Given the description of an element on the screen output the (x, y) to click on. 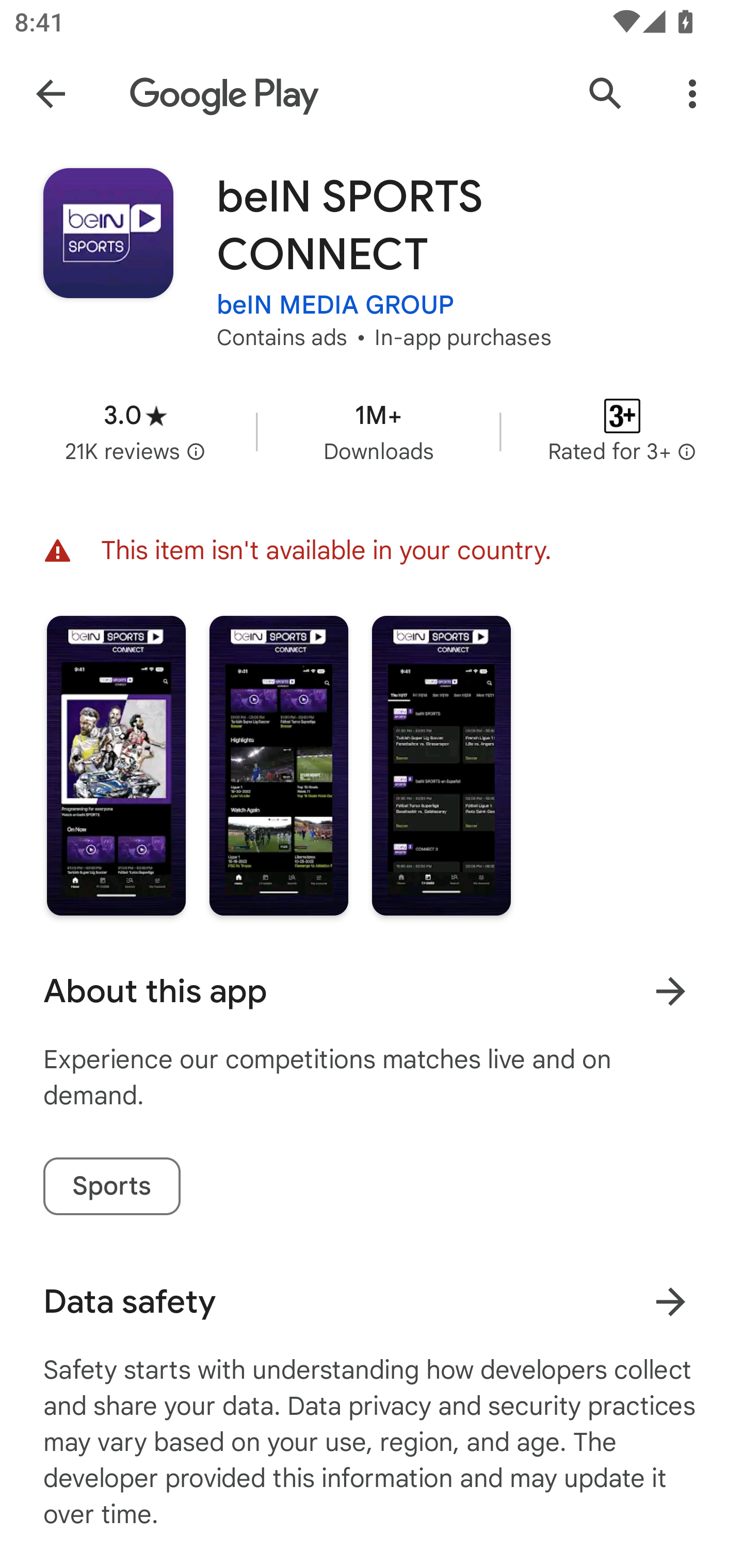
Navigate up (50, 93)
Search Google Play (605, 93)
More Options (692, 93)
beIN MEDIA GROUP (334, 304)
Average rating 3.0 stars in 21 thousand reviews (135, 431)
Content rating Rated for 3+ (622, 431)
Screenshot "1" of "3" (115, 765)
Screenshot "2" of "3" (278, 765)
Screenshot "3" of "3" (441, 765)
About this app Learn more About this app (371, 990)
Learn more About this app (670, 991)
Sports tag (111, 1186)
Data safety Learn more about data safety (371, 1301)
Learn more about data safety (670, 1302)
